Given the description of an element on the screen output the (x, y) to click on. 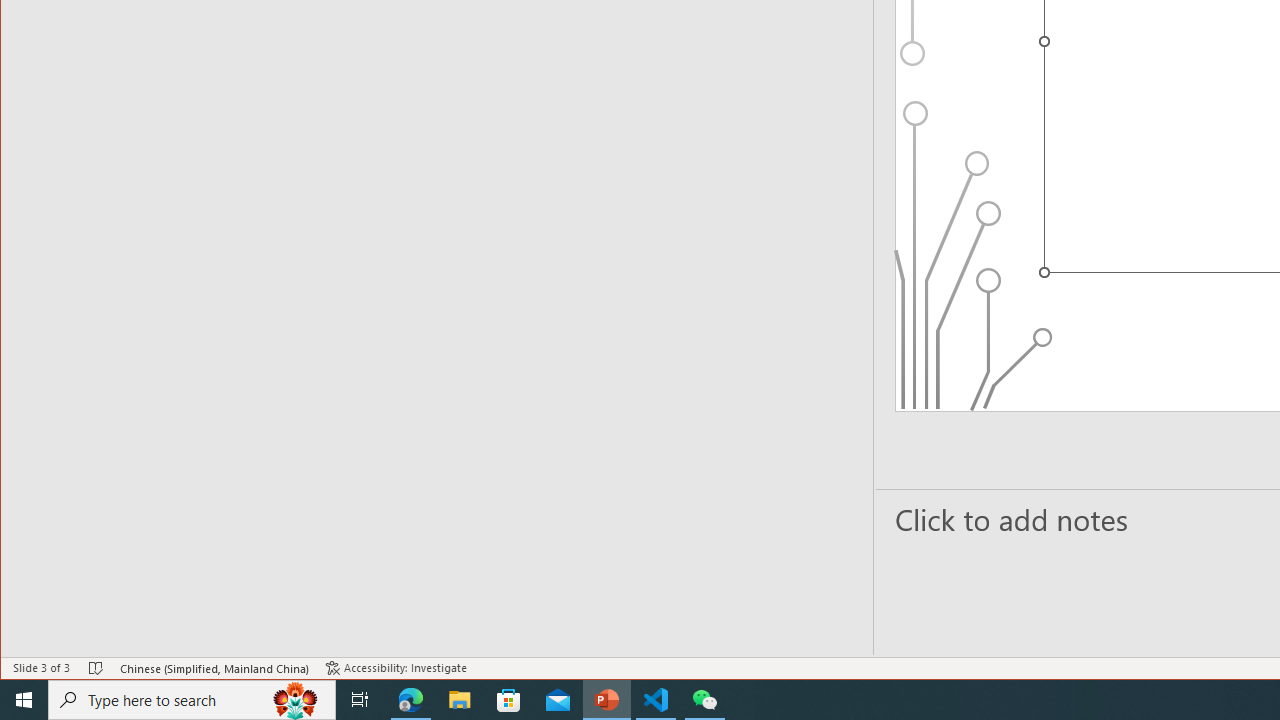
WeChat - 1 running window (704, 699)
